Given the description of an element on the screen output the (x, y) to click on. 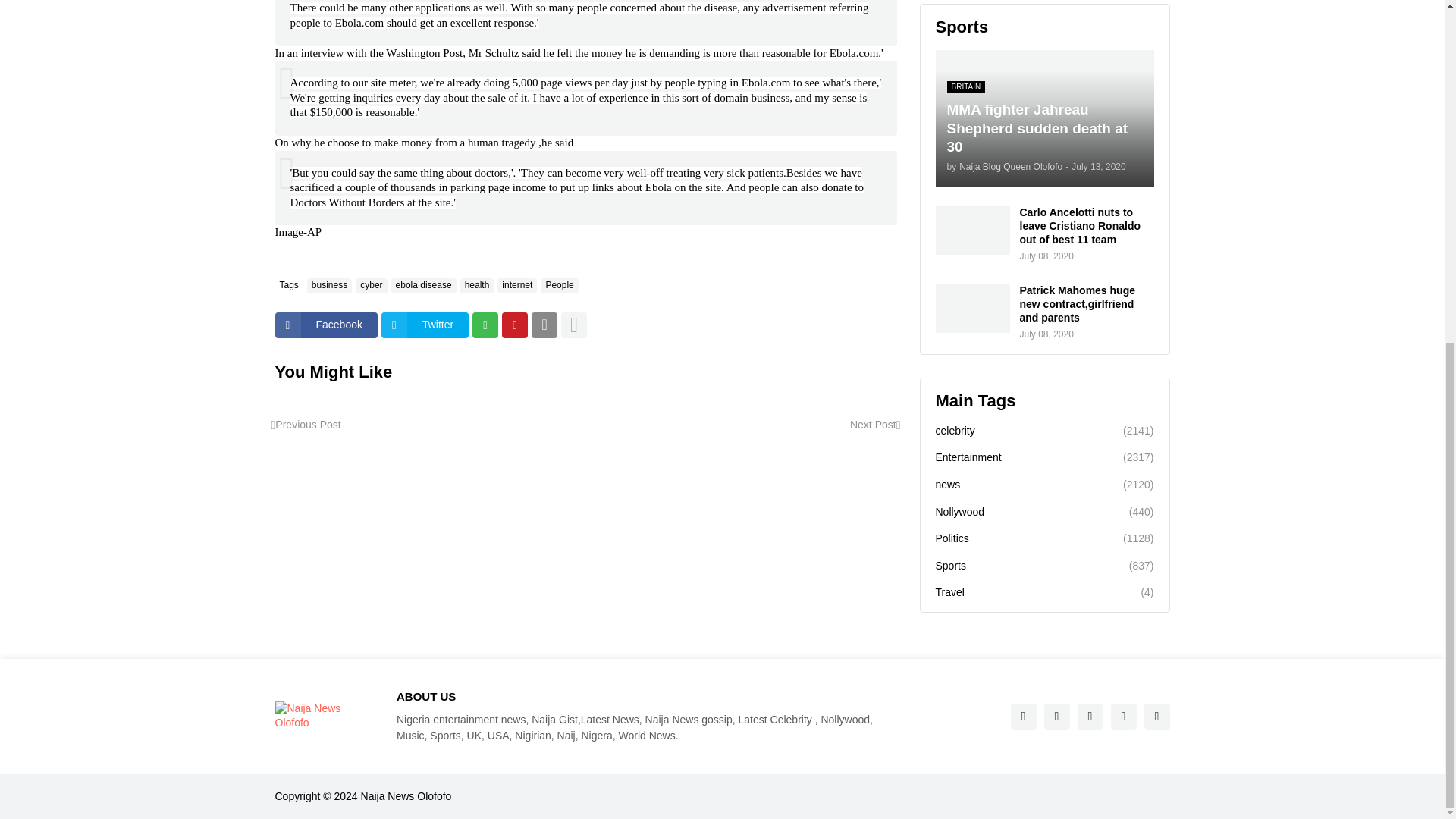
Twitter (424, 325)
Previous Post (305, 425)
Show more (573, 325)
ebola disease (424, 285)
business (329, 285)
People (559, 285)
cyber (371, 285)
Facebook (326, 325)
internet (517, 285)
health (477, 285)
